Given the description of an element on the screen output the (x, y) to click on. 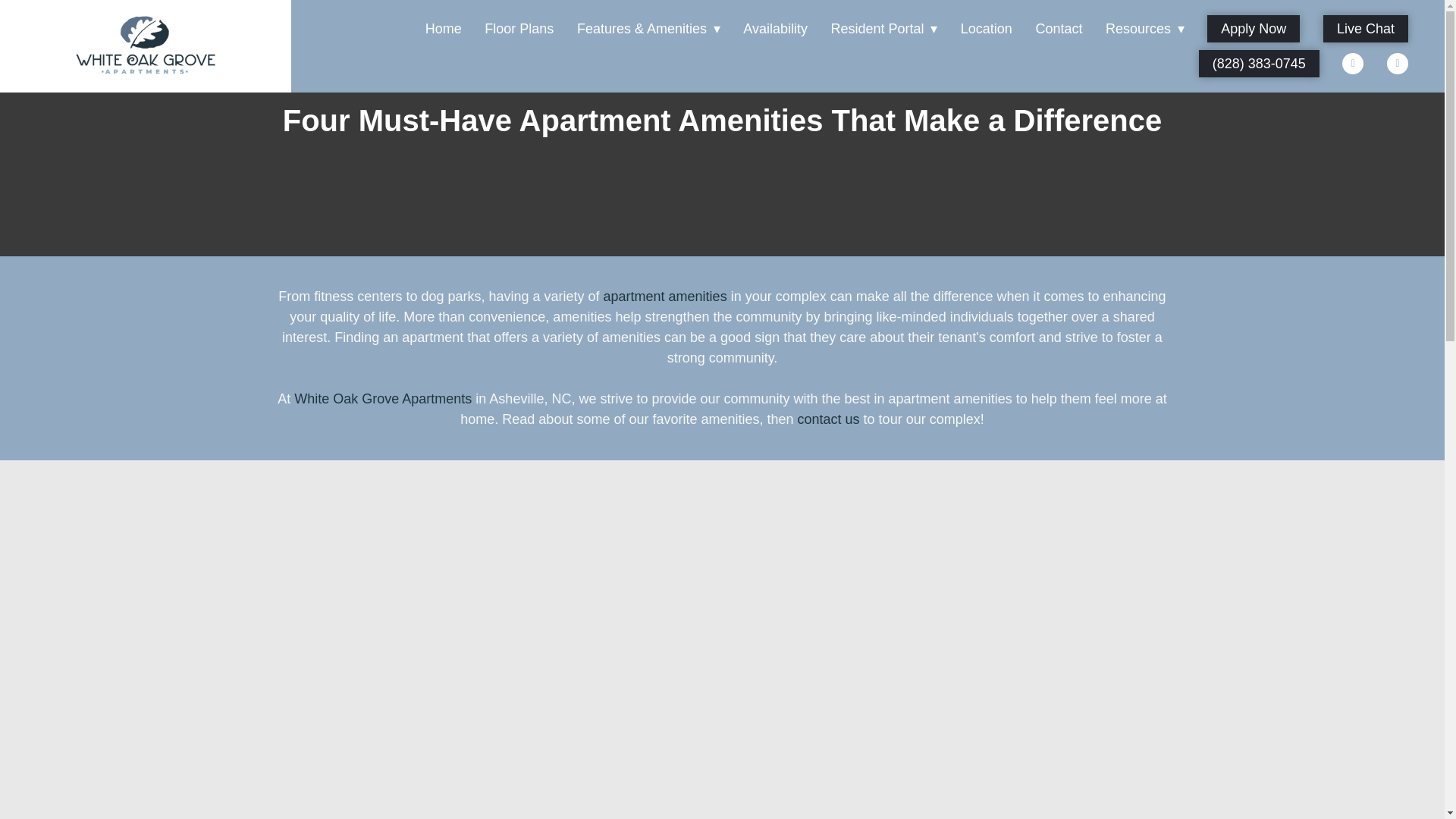
White Oak Grove Apartments (145, 46)
apartment amenities (665, 296)
Apply Now (1253, 28)
contact us (828, 418)
Home (443, 28)
White Oak Grove Apartments (382, 398)
Location (985, 28)
Live Chat (1365, 28)
Contact (1058, 28)
Availability (775, 28)
Floor Plans (518, 28)
